Given the description of an element on the screen output the (x, y) to click on. 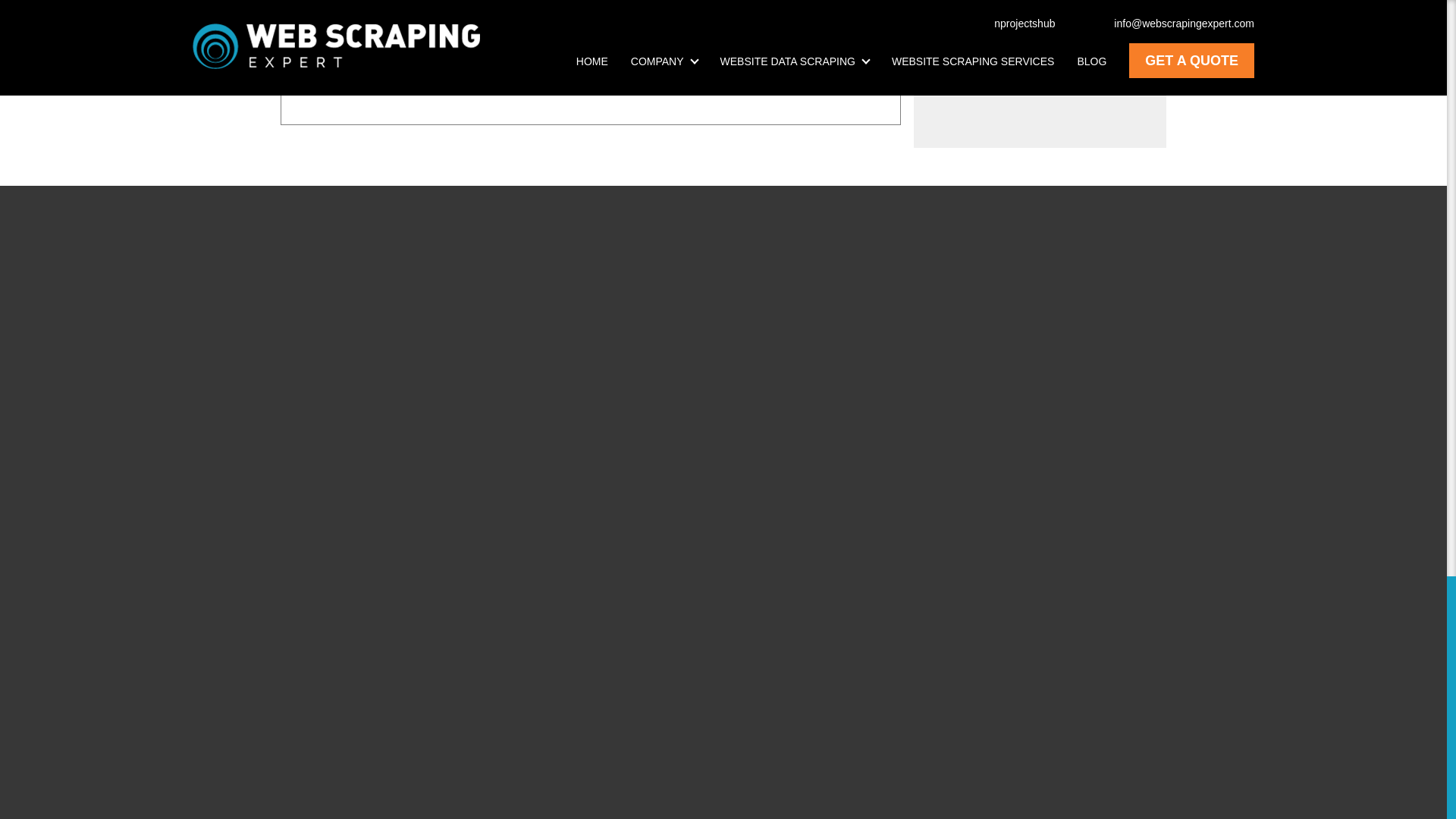
Add Comment (361, 76)
